Given the description of an element on the screen output the (x, y) to click on. 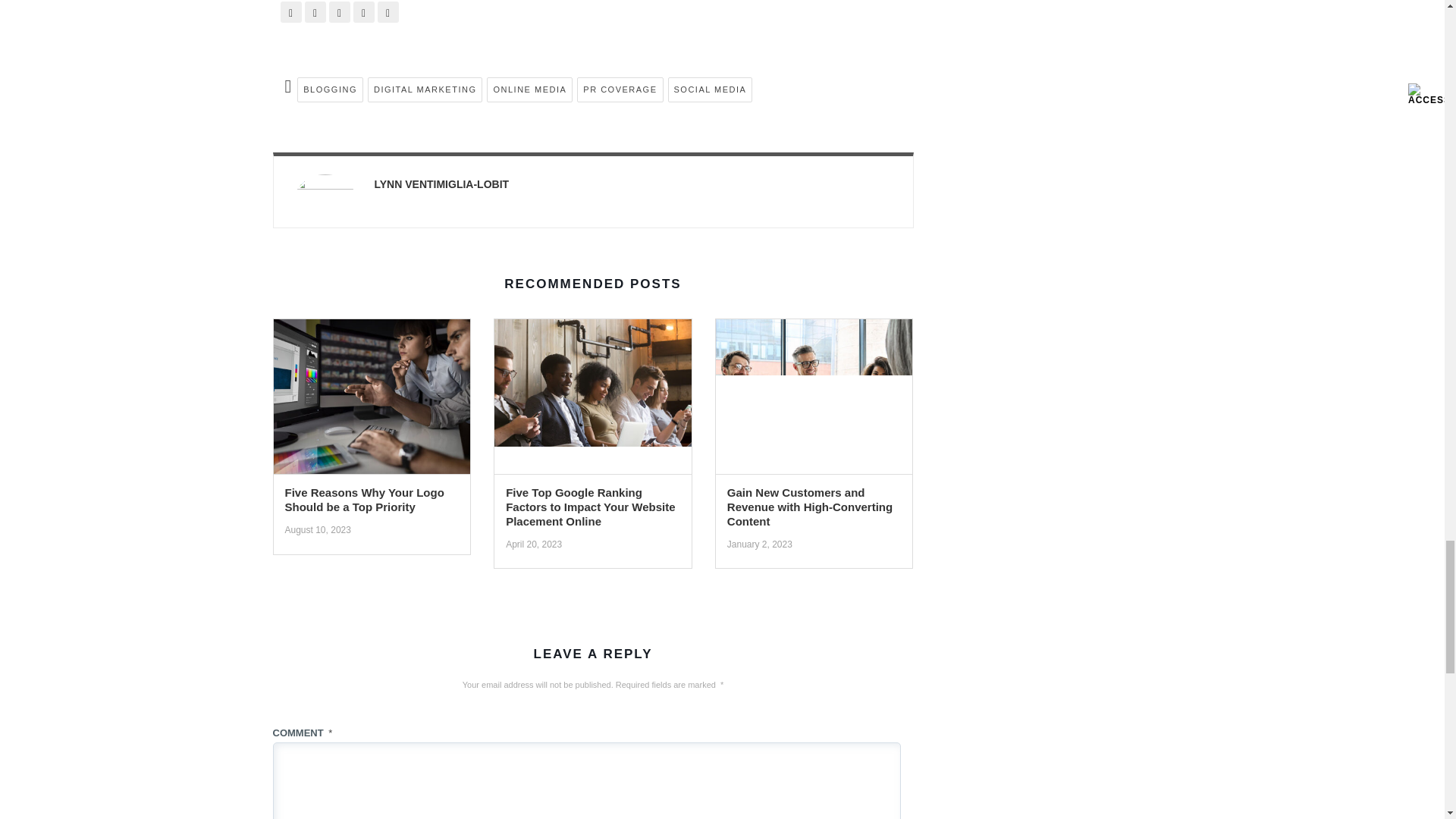
Posts by Lynn Ventimiglia-Lobit (441, 184)
Five Reasons Why Your Logo Should be a Top Priority (371, 401)
Gain New Customers and Revenue with High-Converting Content (814, 401)
